Given the description of an element on the screen output the (x, y) to click on. 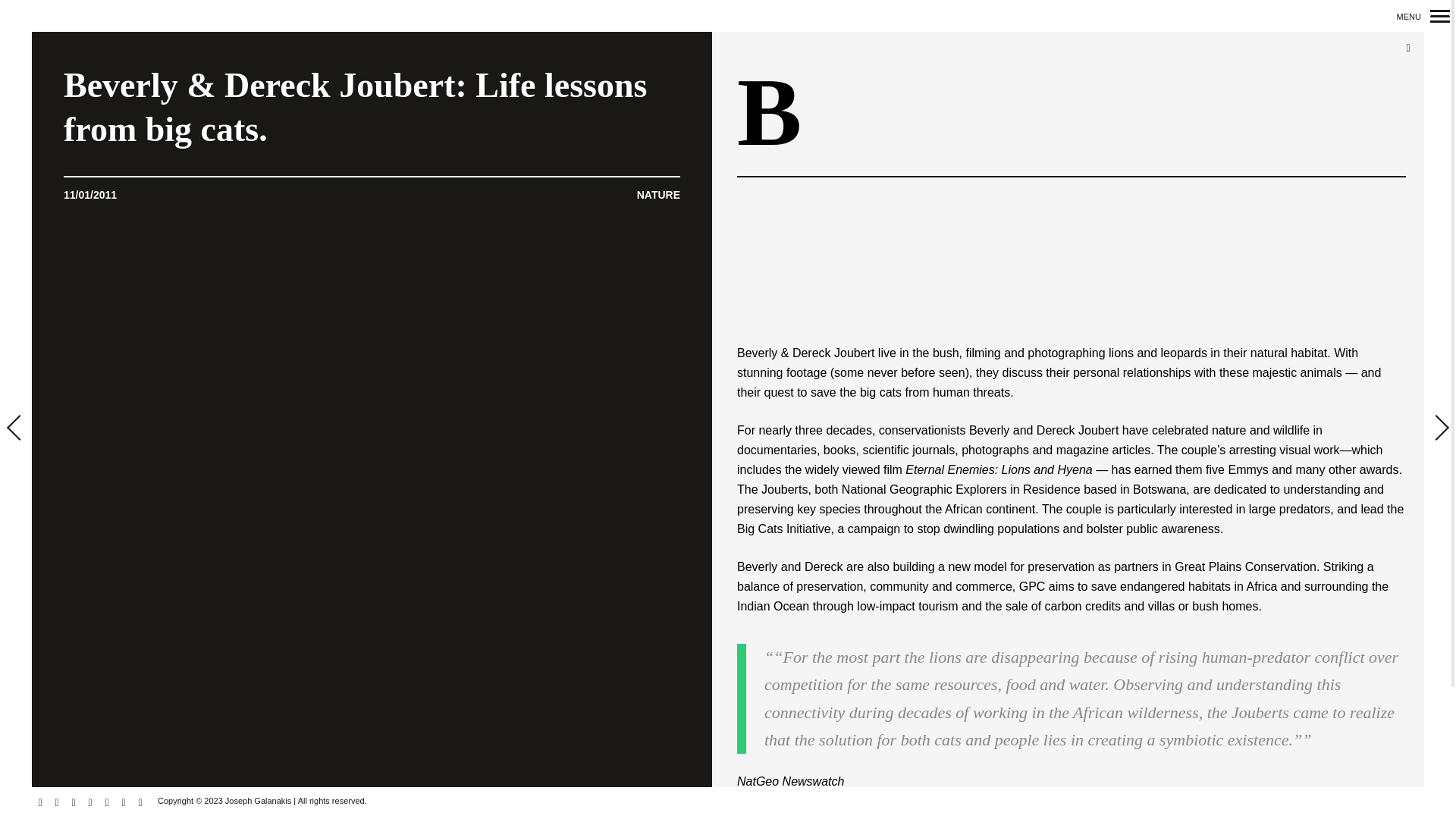
NATURE (658, 195)
View all posts in Nature (658, 195)
